Given the description of an element on the screen output the (x, y) to click on. 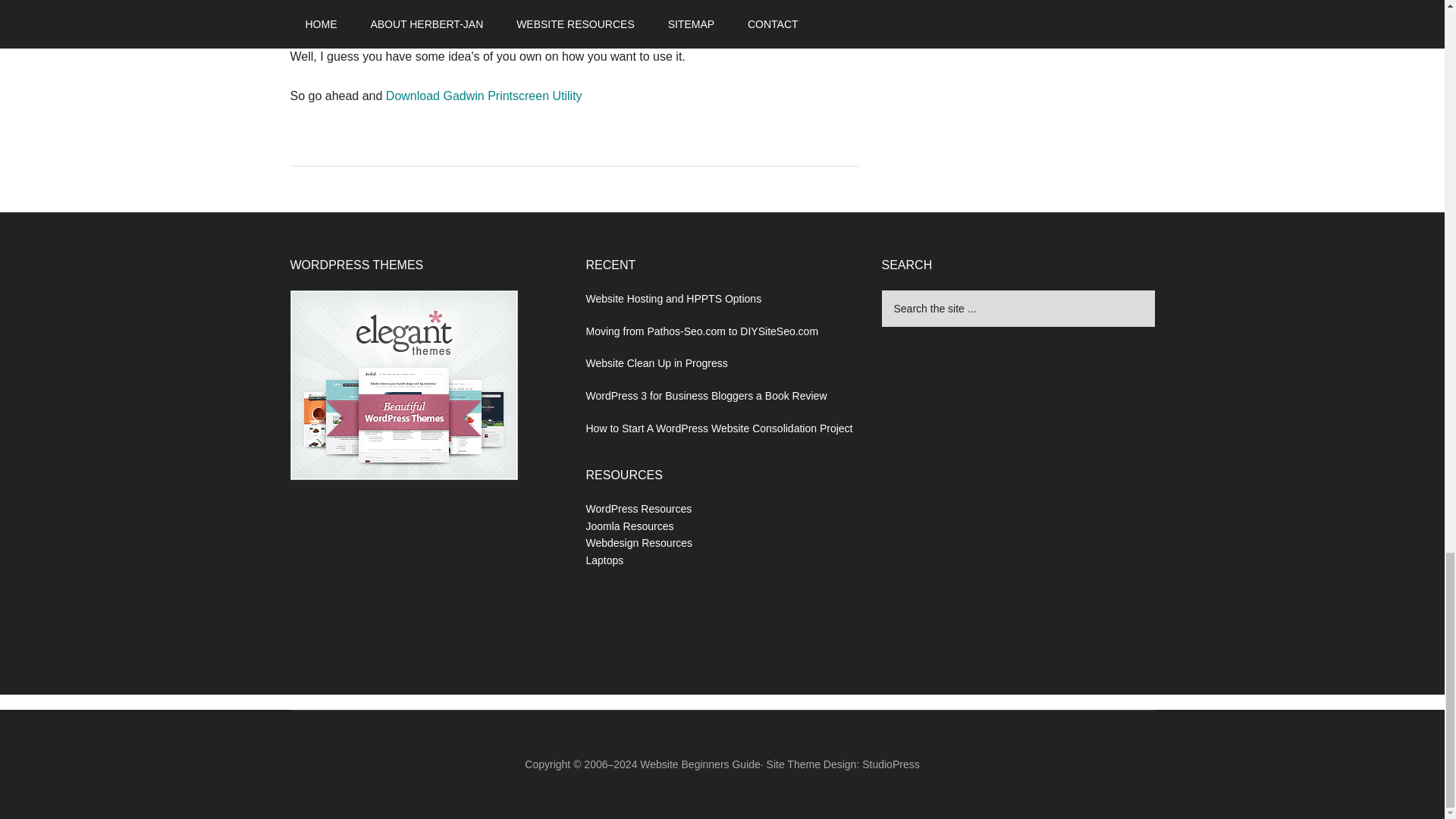
Gadwin Printscreen Utility (483, 95)
